Given the description of an element on the screen output the (x, y) to click on. 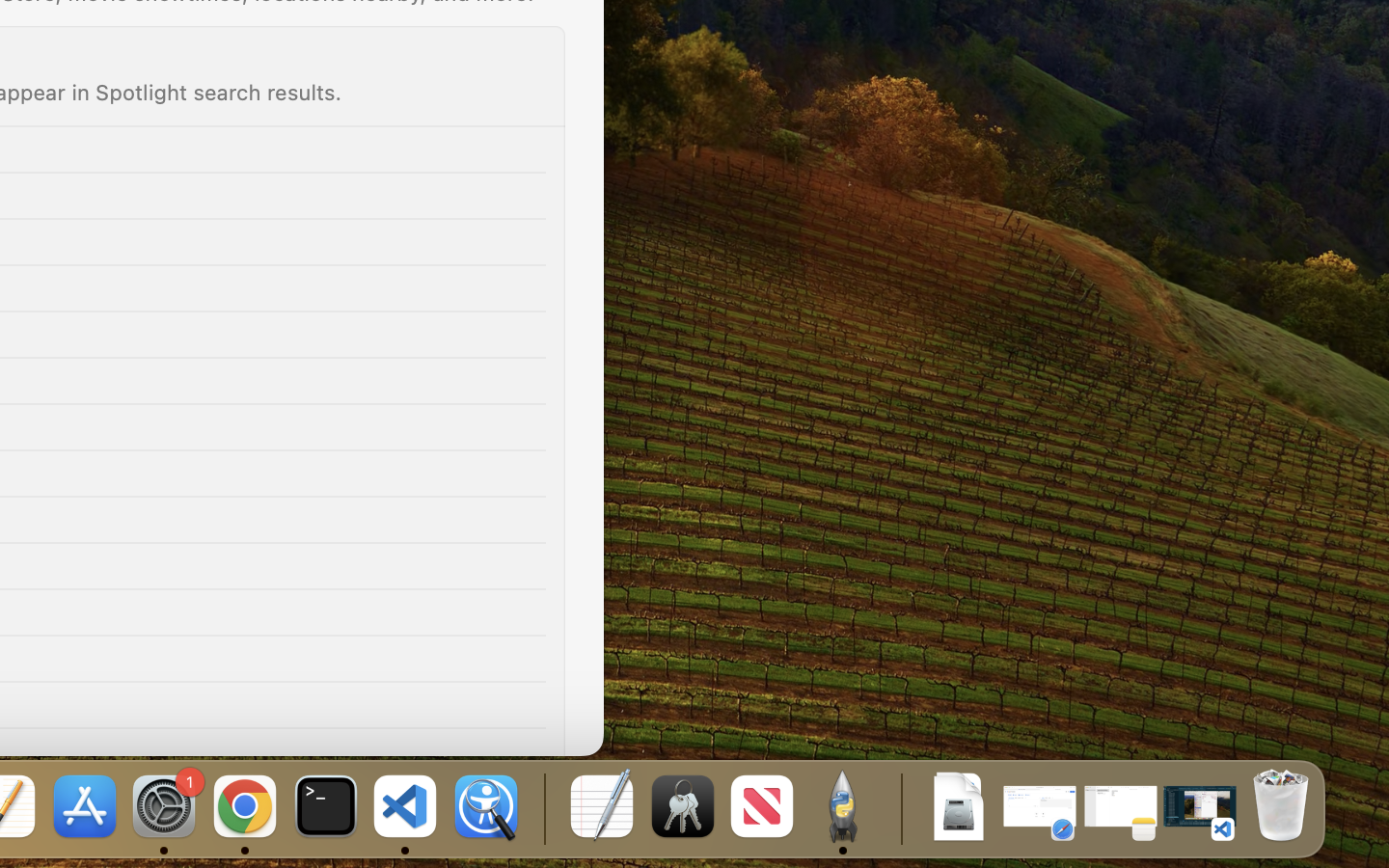
0.4285714328289032 Element type: AXDockItem (541, 807)
